Given the description of an element on the screen output the (x, y) to click on. 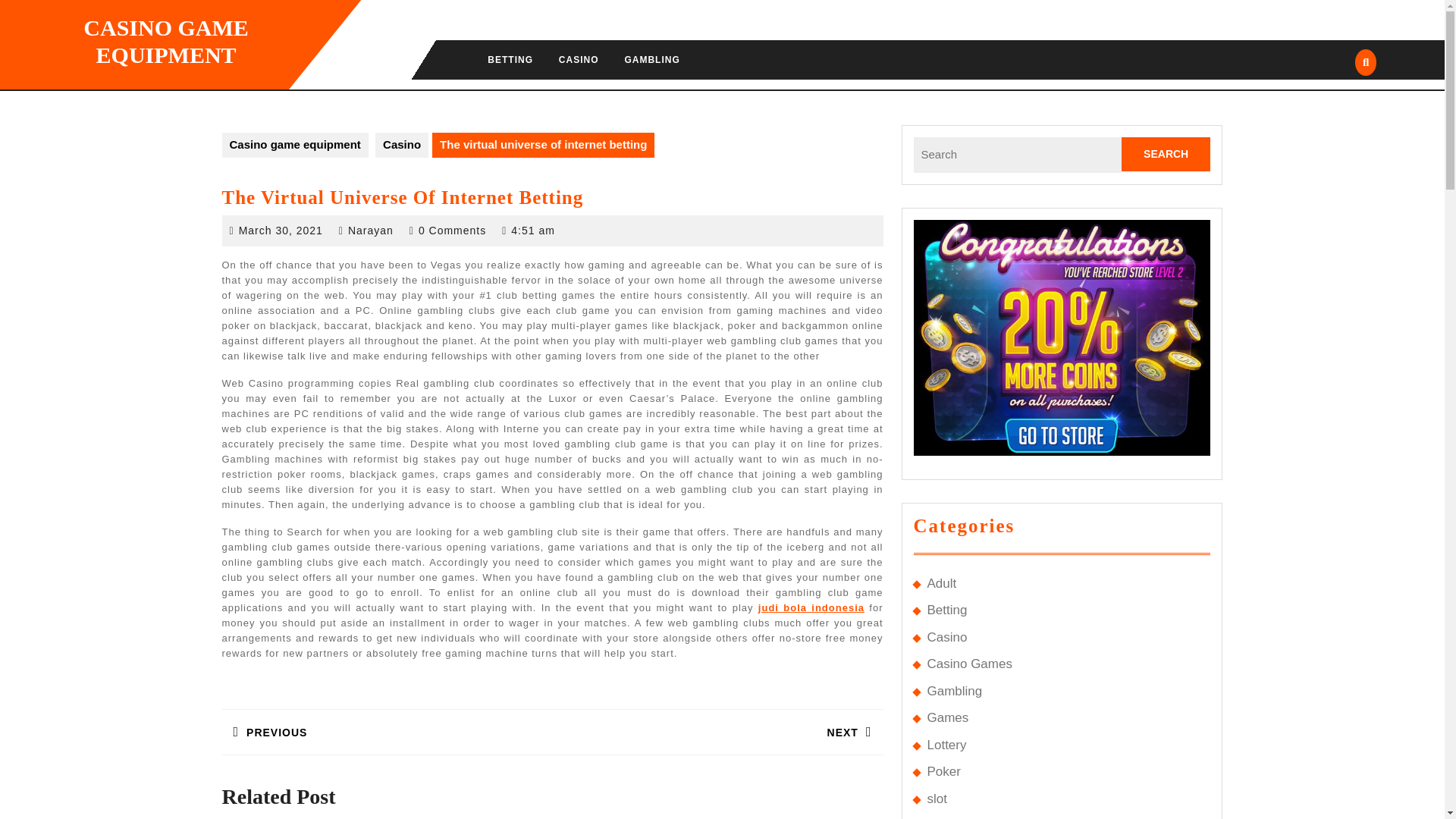
Lottery (946, 744)
CASINO (578, 59)
Casino game equipment (294, 145)
Narayan (370, 230)
Search (1166, 154)
BETTING (280, 230)
Adult (510, 59)
GAMBLING (941, 583)
Poker (716, 722)
slot (651, 59)
Casino (942, 771)
Games (386, 722)
